Given the description of an element on the screen output the (x, y) to click on. 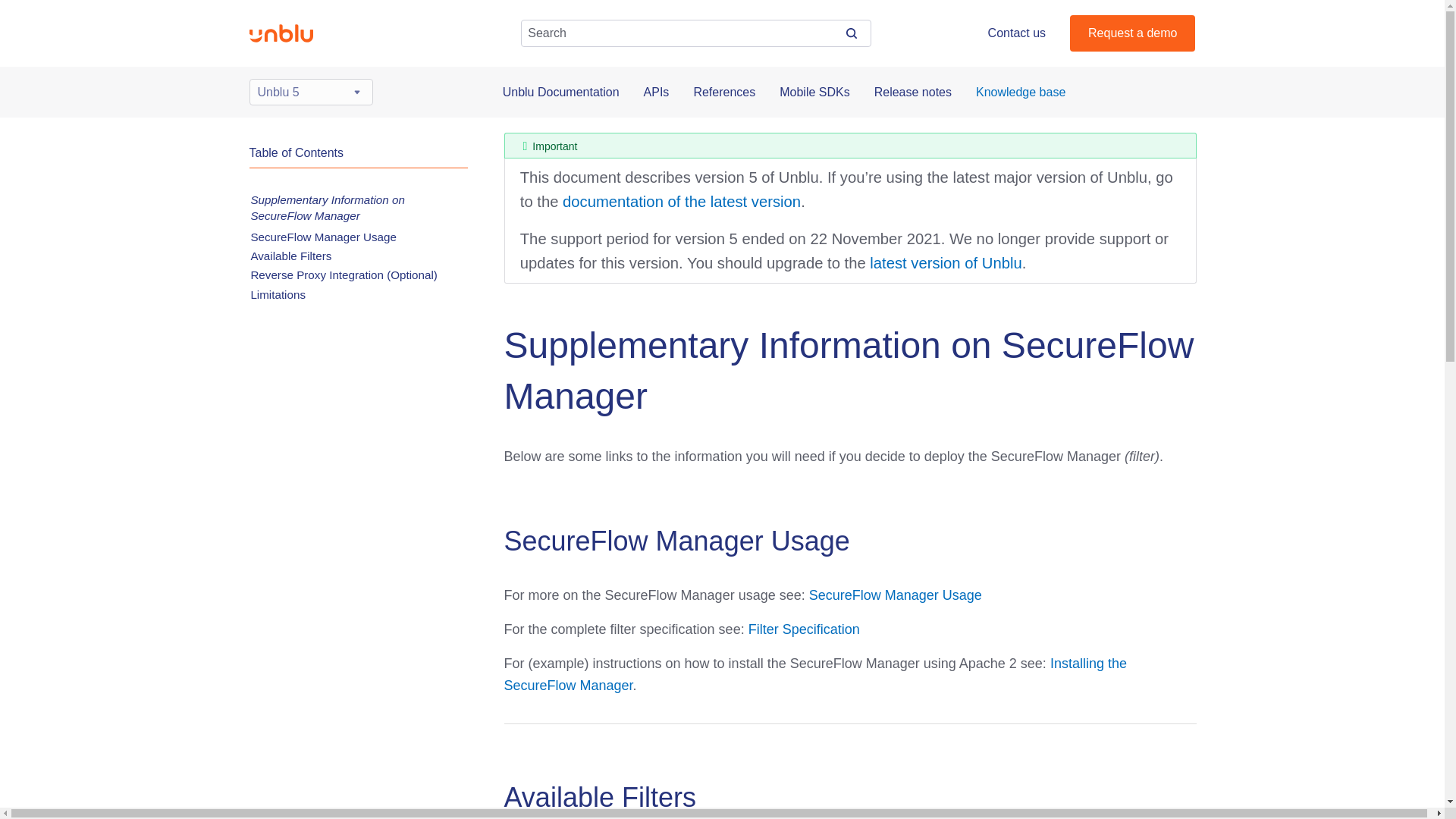
Knowledge base (1020, 91)
Limitations (277, 294)
latest version of Unblu (945, 262)
Unblu Documentation (561, 91)
documentation of the latest version (681, 201)
Installing the SecureFlow Manager (814, 674)
SecureFlow Manager Usage (895, 595)
Available Filters (290, 255)
Supplementary Information on SecureFlow Manager (327, 207)
Request a demo (1132, 33)
